Given the description of an element on the screen output the (x, y) to click on. 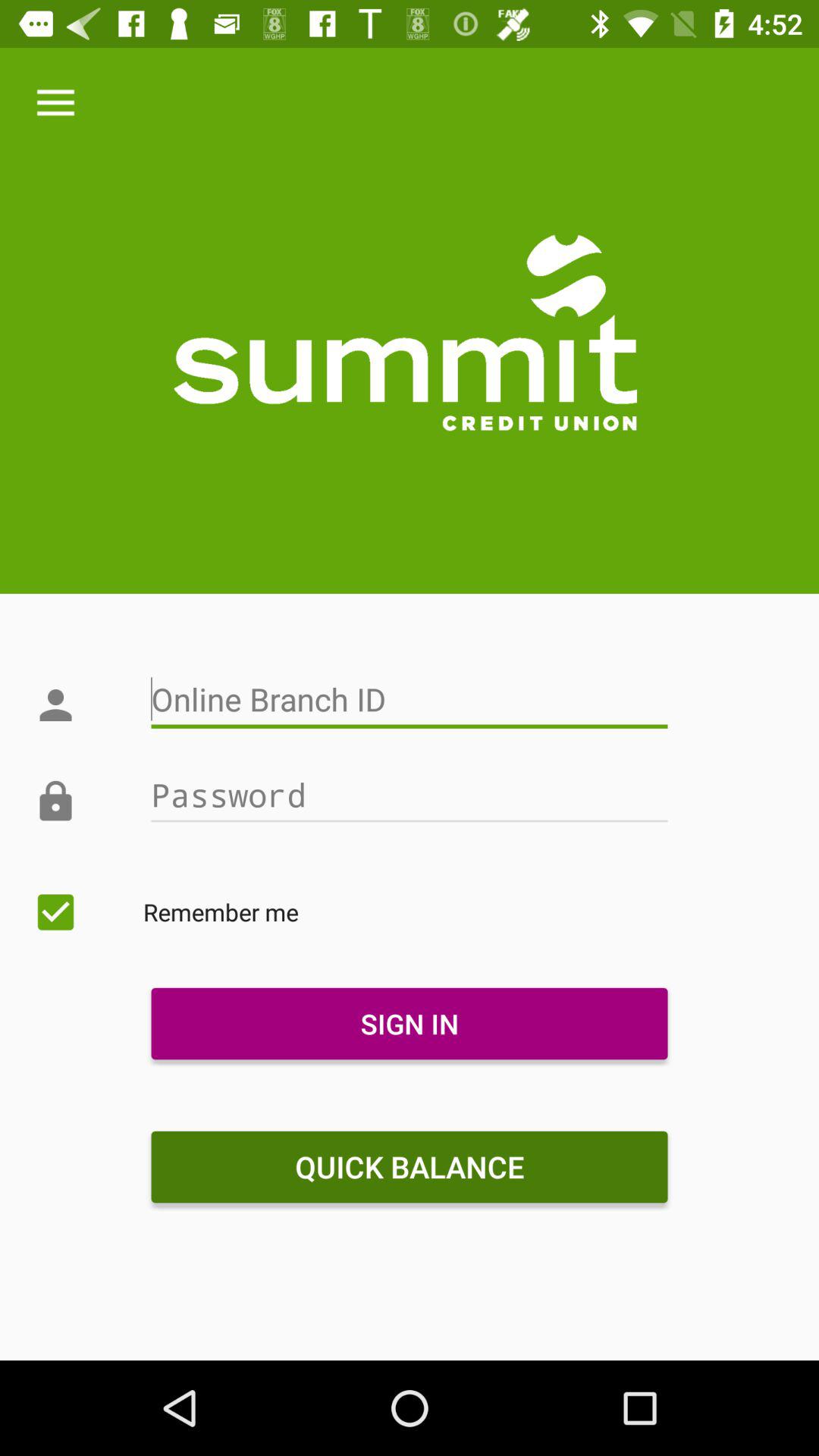
open icon at the top left corner (55, 103)
